Given the description of an element on the screen output the (x, y) to click on. 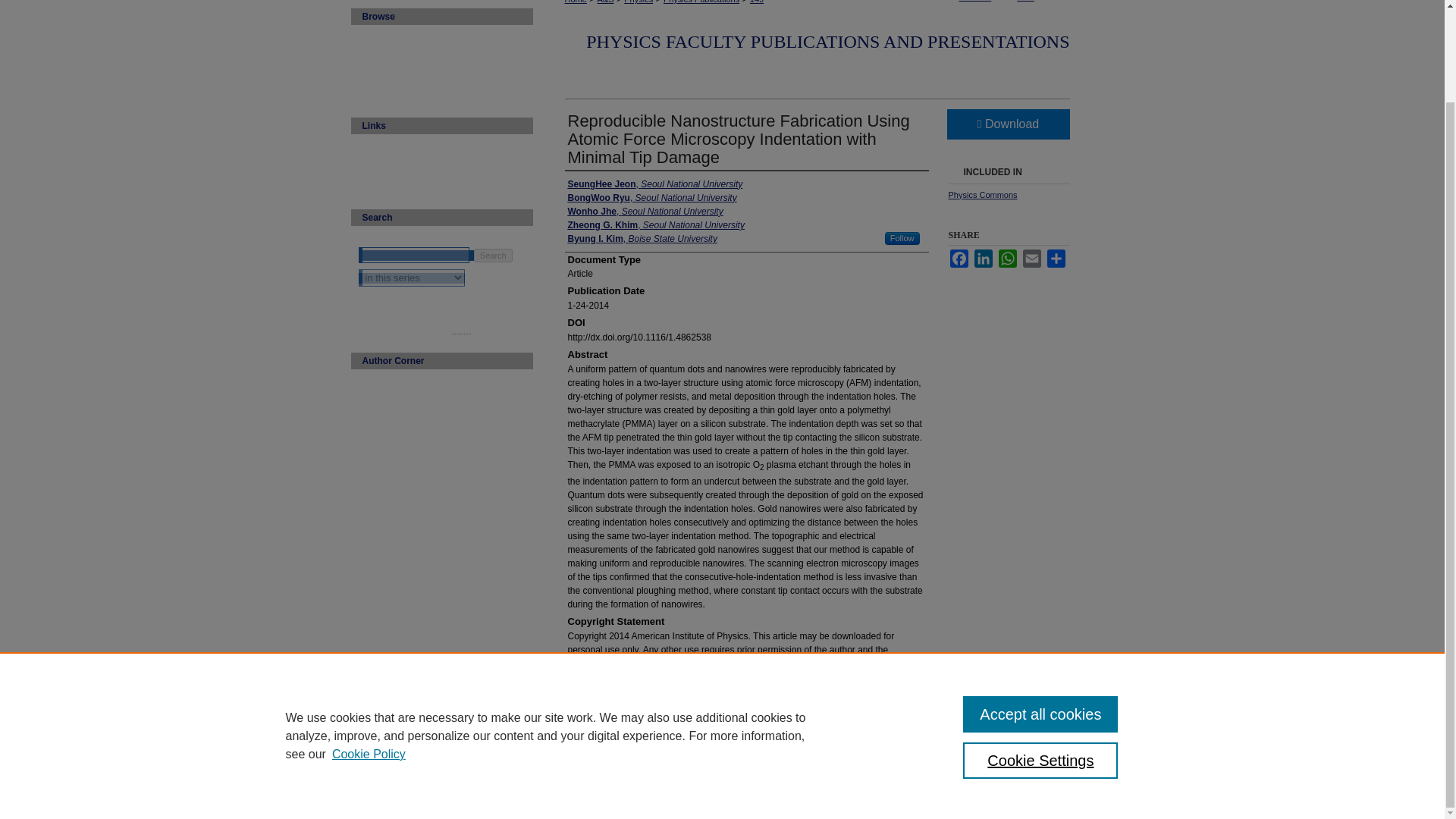
WhatsApp (1006, 258)
Physics Commons (981, 194)
BongWoo Ryu, Seoul National University (651, 197)
Physics Commons (981, 194)
Share (1055, 258)
SeungHee Jeon, Seoul National University (654, 183)
Search (493, 255)
Physics (638, 2)
Byung I. Kim, Boise State University (641, 238)
Email (1031, 258)
Physics Publications (701, 2)
Browse by Disciplines (447, 59)
Search (493, 255)
PHYSICS FACULTY PUBLICATIONS AND PRESENTATIONS (827, 41)
